Given the description of an element on the screen output the (x, y) to click on. 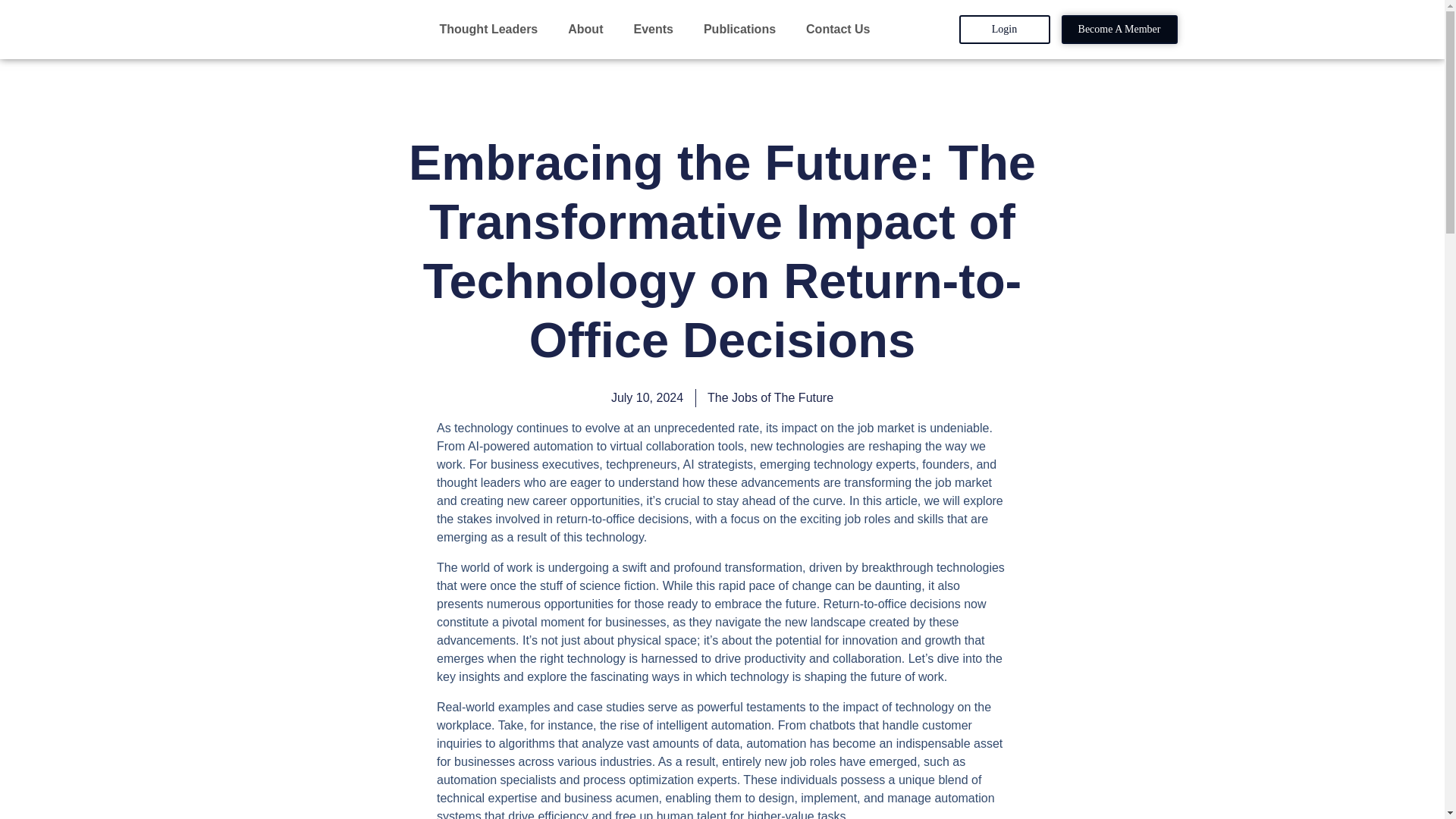
Login (1003, 29)
Thought Leaders (492, 29)
July 10, 2024 (646, 398)
The Jobs of The Future (769, 398)
Become A Member (1119, 29)
Contact Us (837, 29)
About (588, 29)
Events (656, 29)
Publications (743, 29)
